Given the description of an element on the screen output the (x, y) to click on. 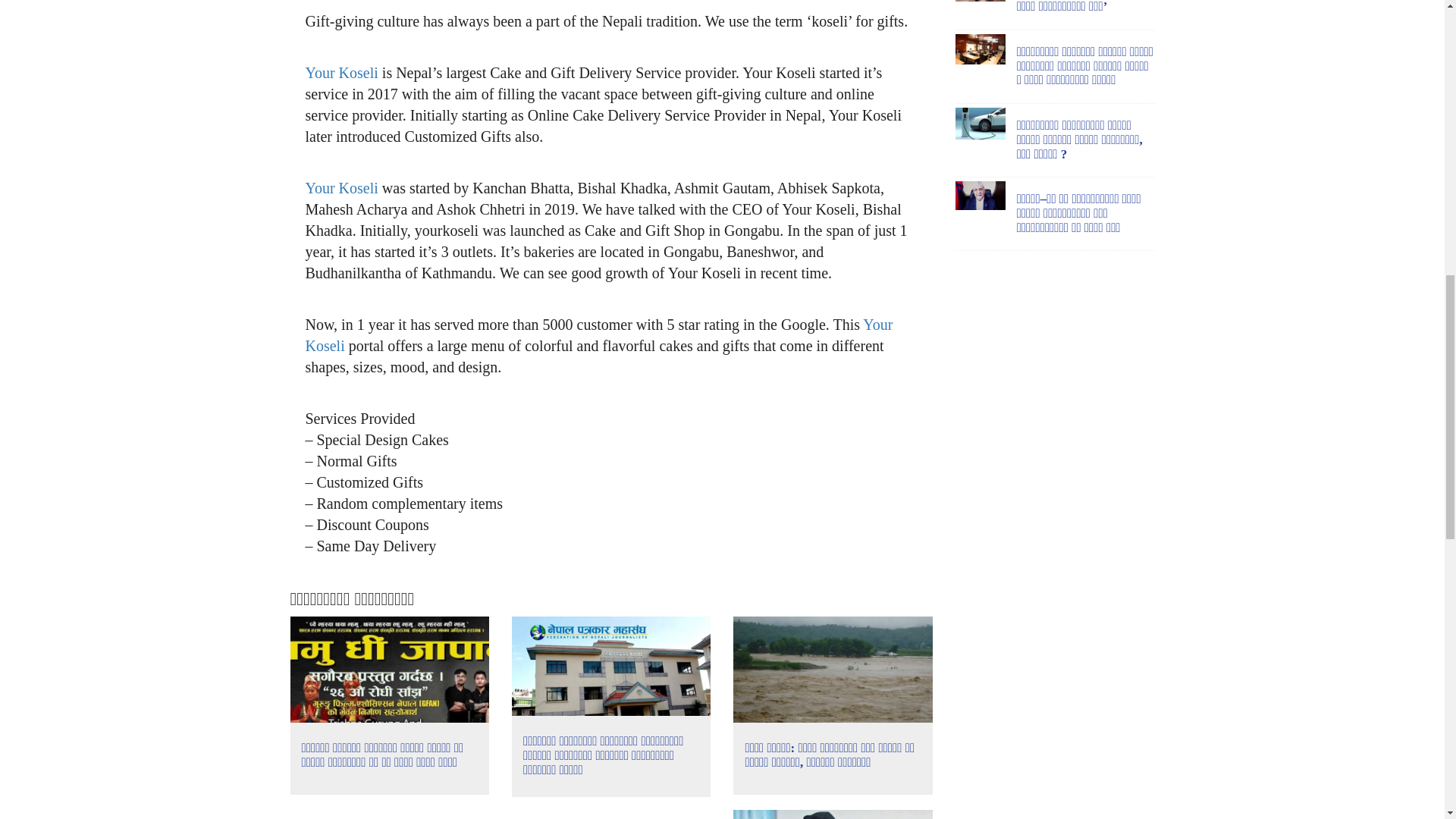
Your Koseli (340, 72)
Your Koseli (340, 187)
Your Koseli (598, 334)
